Given the description of an element on the screen output the (x, y) to click on. 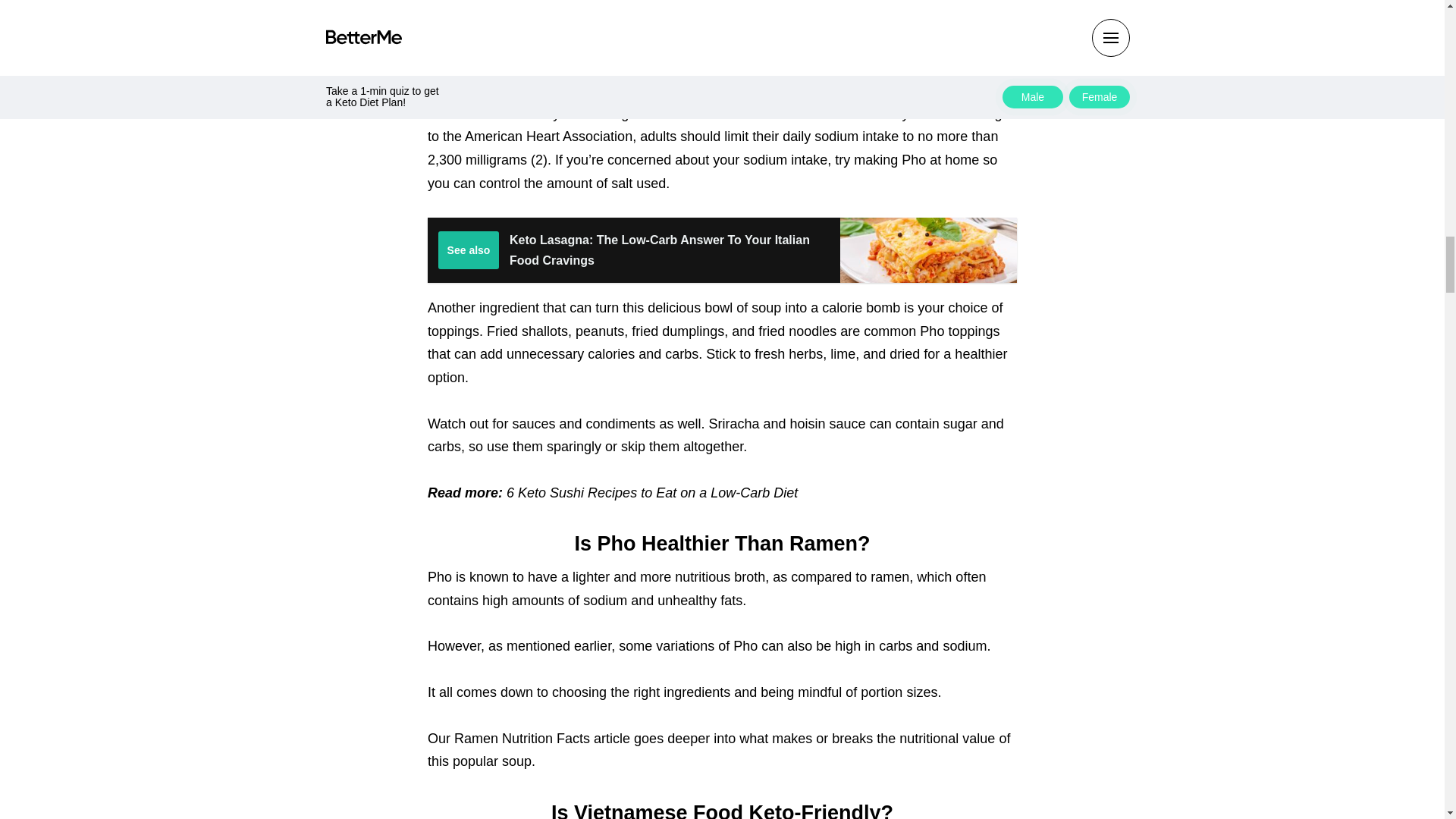
Ramen Nutrition Facts (521, 738)
6 Keto Sushi Recipes to Eat on a Low-Carb Diet (651, 492)
